Given the description of an element on the screen output the (x, y) to click on. 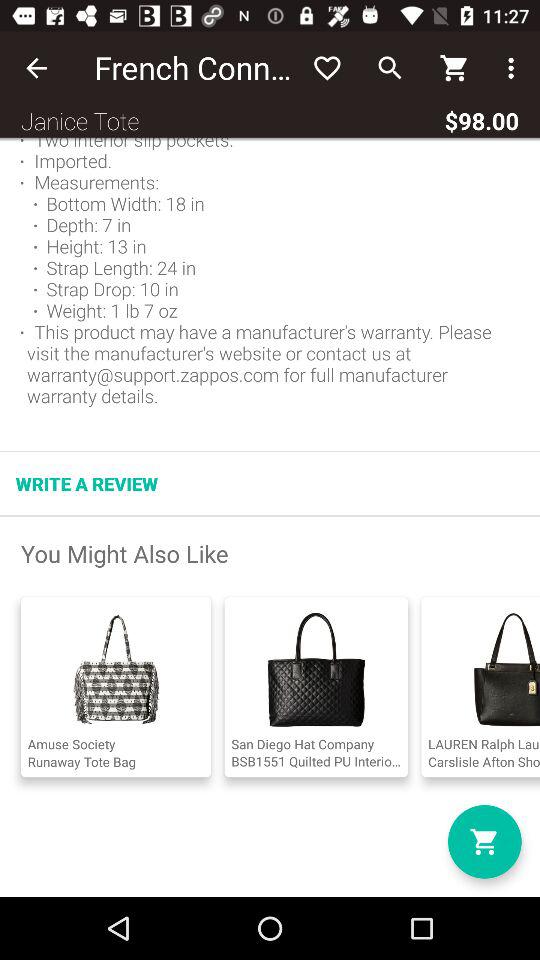
press the icon at the top left corner (36, 68)
